Given the description of an element on the screen output the (x, y) to click on. 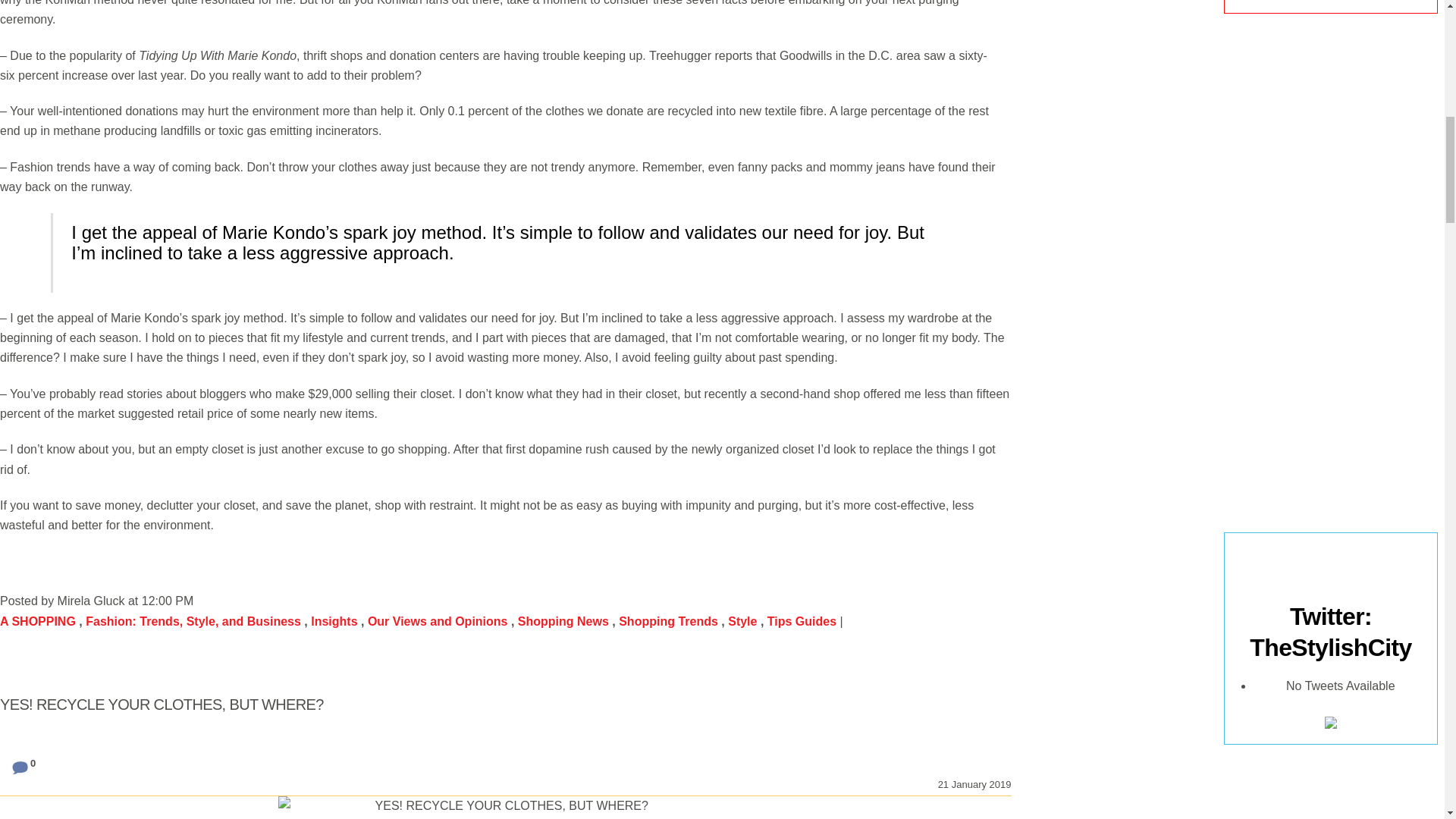
Insights (333, 621)
A SHOPPING (37, 621)
Our Views and Opinions (438, 621)
Fashion: Trends, Style, and Business (193, 621)
Shopping News (563, 621)
Shopping Trends (667, 621)
